Given the description of an element on the screen output the (x, y) to click on. 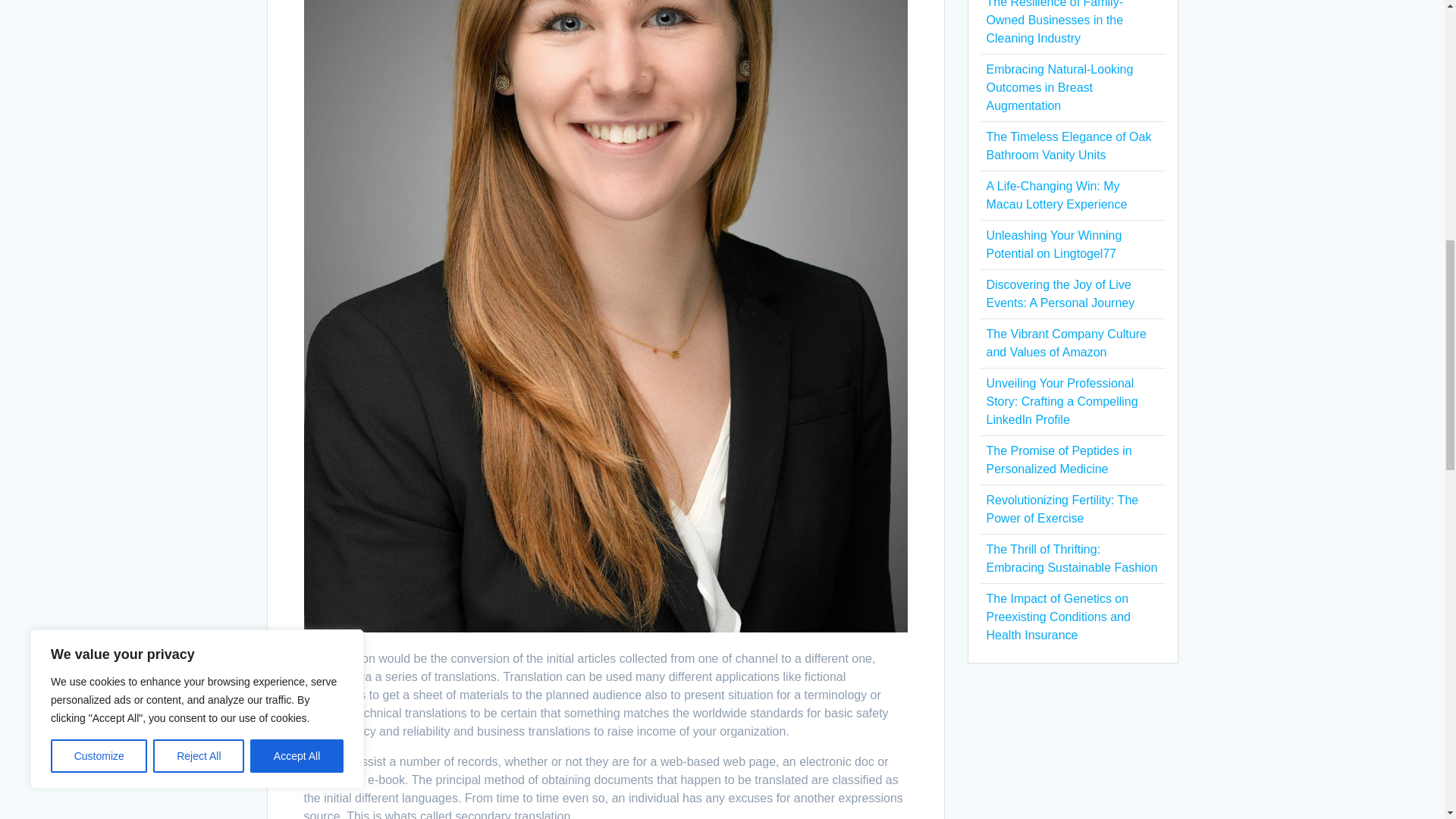
The Timeless Elegance of Oak Bathroom Vanity Units (1068, 145)
Unleashing Your Winning Potential on Lingtogel77 (1053, 244)
A Life-Changing Win: My Macau Lottery Experience (1055, 194)
Embracing Natural-Looking Outcomes in Breast Augmentation (1058, 87)
